Given the description of an element on the screen output the (x, y) to click on. 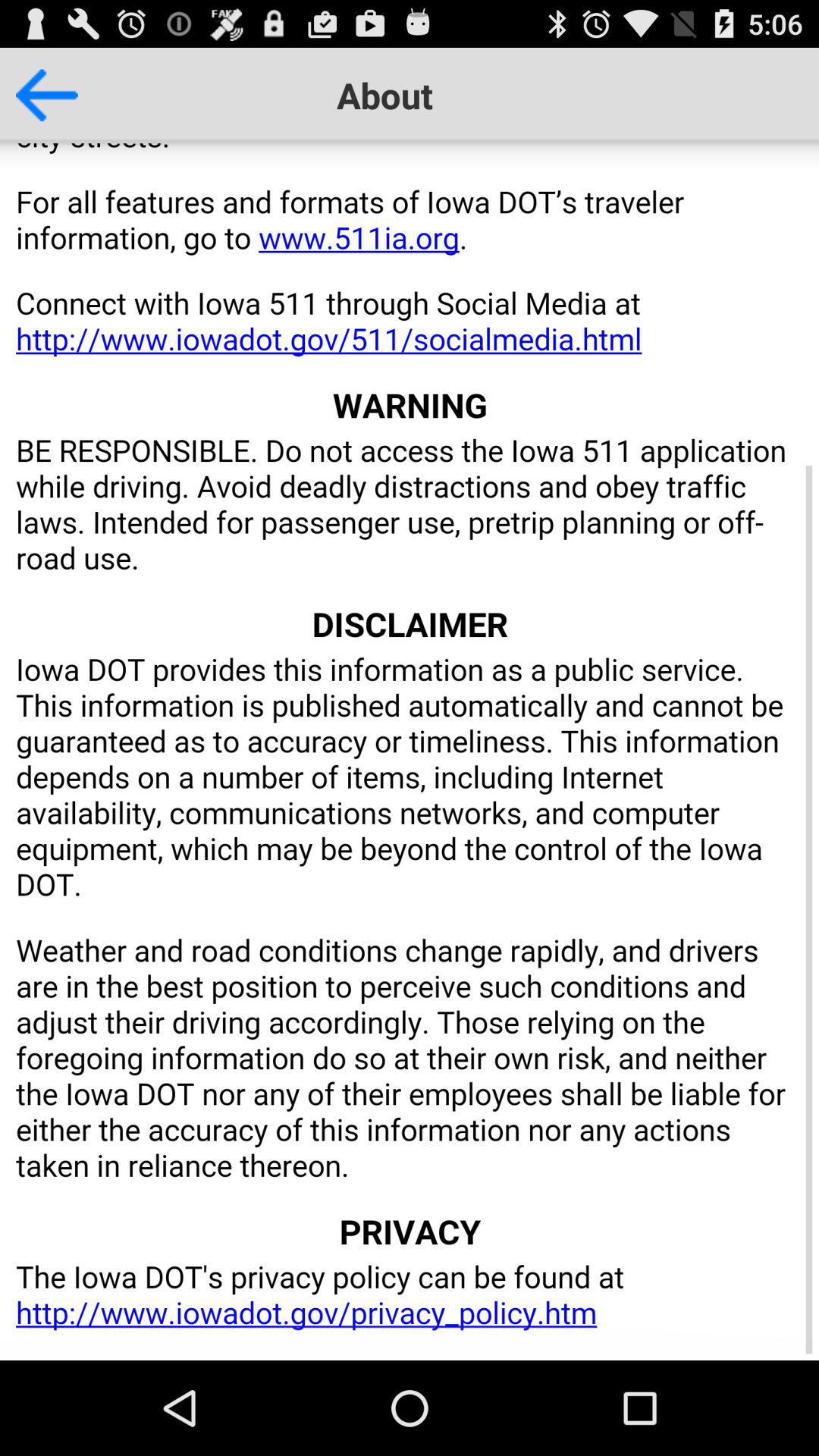
select the arrow button which is to the immediate left of about (52, 88)
